Given the description of an element on the screen output the (x, y) to click on. 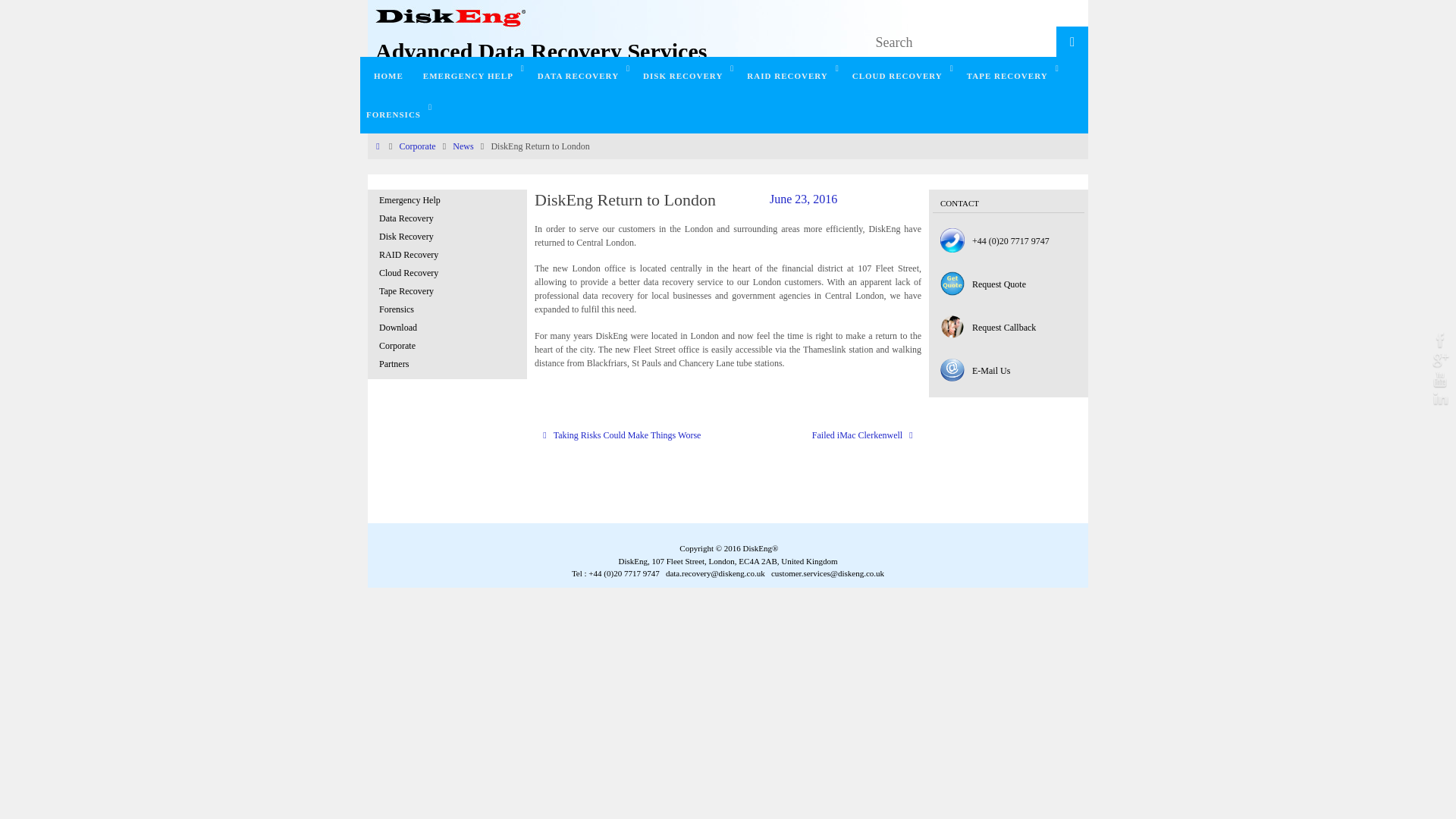
EMERGENCY HELP (473, 75)
DiskEng YouTube Channel (1440, 378)
Get Quote (952, 283)
DiskEng Facebook Page (1440, 339)
Get Data Recovery Quote (999, 284)
Advanced Data Recovery Services (540, 50)
HOME (387, 75)
DATA RECOVERY (584, 75)
DiskEng LinkedIn Profile Page (1440, 398)
Advanced Data Recovery Services (540, 50)
